Given the description of an element on the screen output the (x, y) to click on. 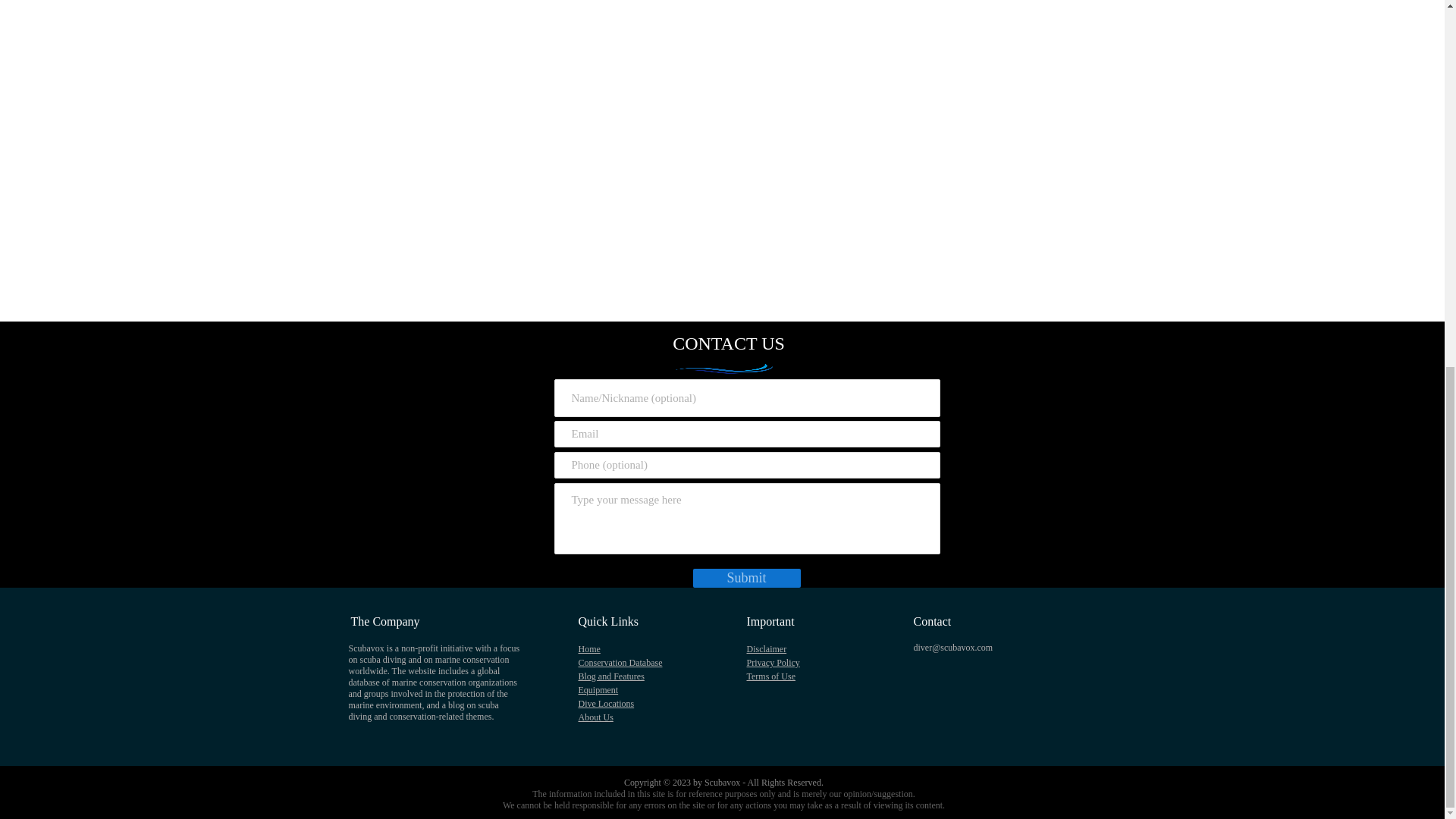
Submit (746, 578)
Equipment (597, 689)
Dive Locations (605, 703)
Disclaimer (765, 648)
Privacy Policy (772, 662)
Blog and Features (610, 675)
Conservation Database (620, 662)
Terms of Use (769, 675)
Home (588, 648)
About Us (595, 716)
